Given the description of an element on the screen output the (x, y) to click on. 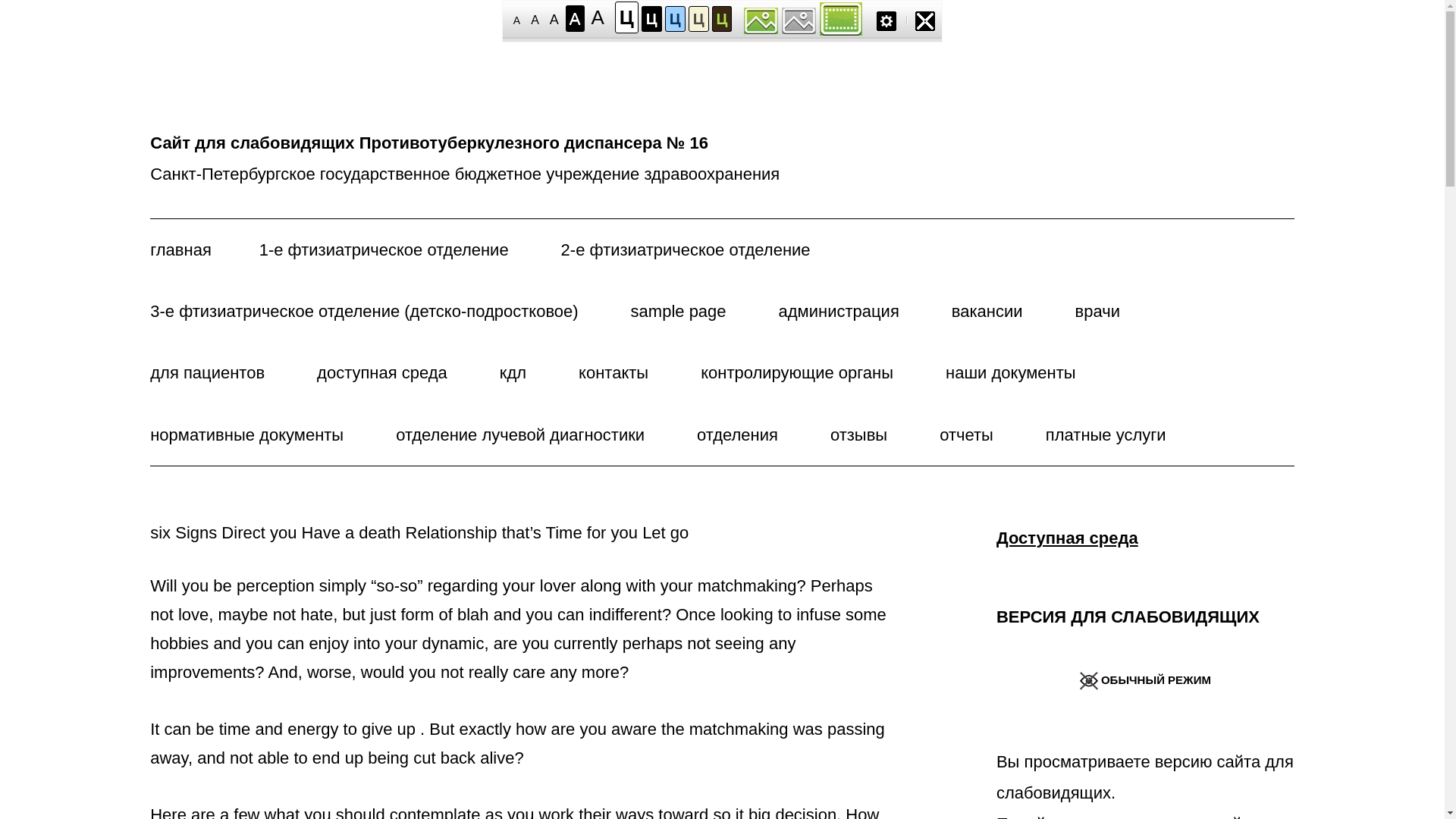
sample page (678, 311)
